Given the description of an element on the screen output the (x, y) to click on. 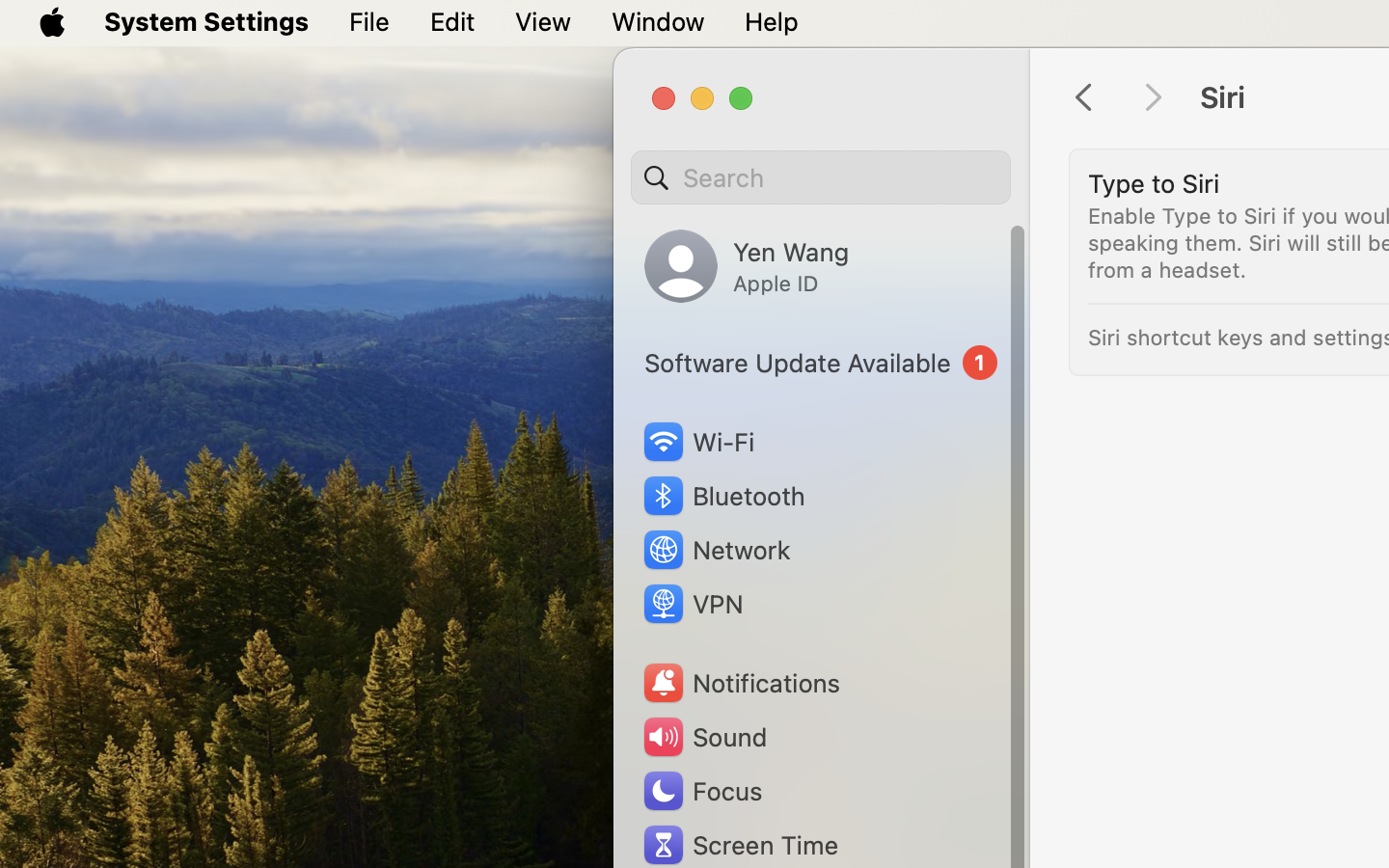
Notifications Element type: AXStaticText (740, 682)
